Given the description of an element on the screen output the (x, y) to click on. 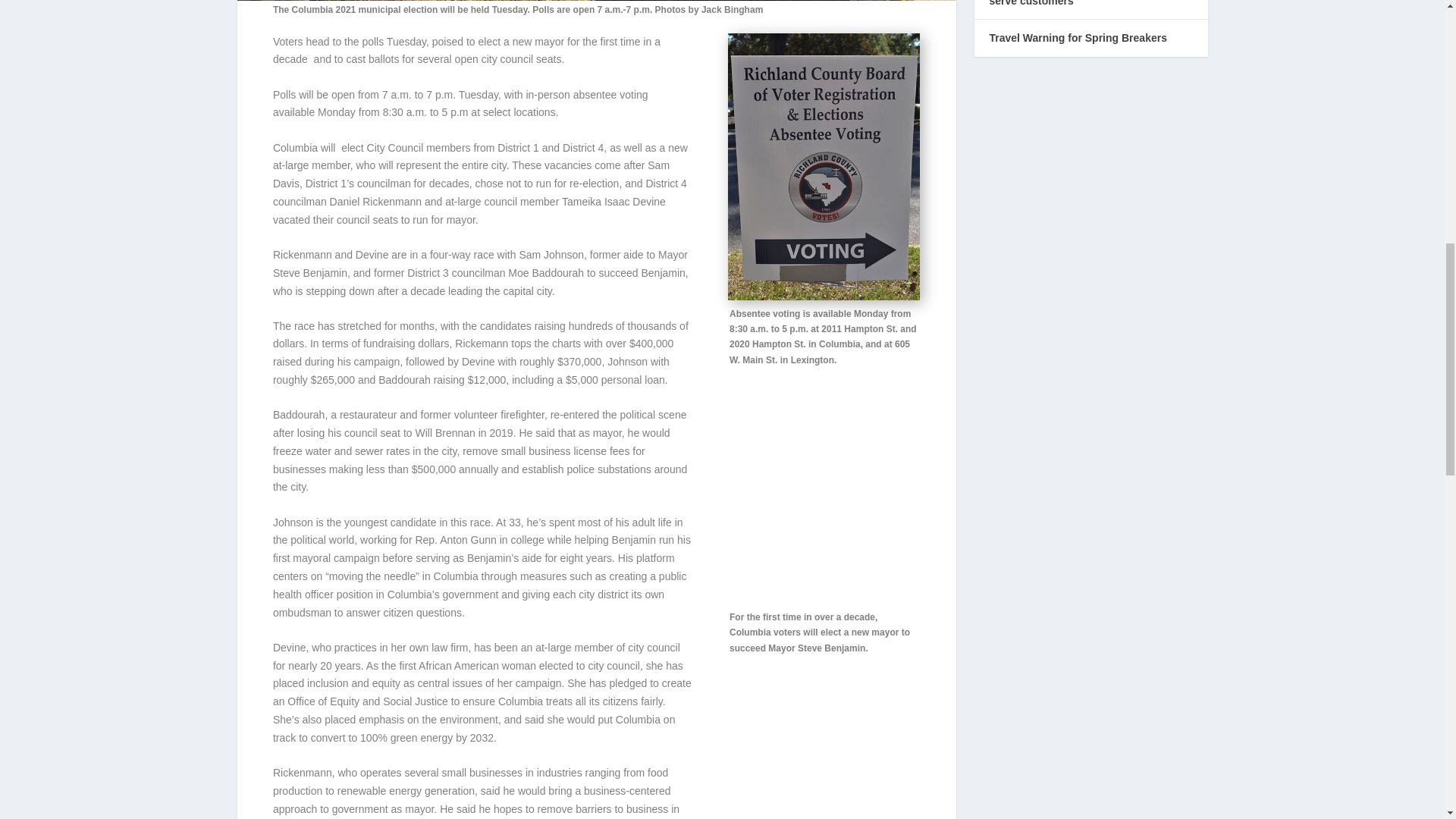
Rep. Anton Gunn (455, 539)
